Given the description of an element on the screen output the (x, y) to click on. 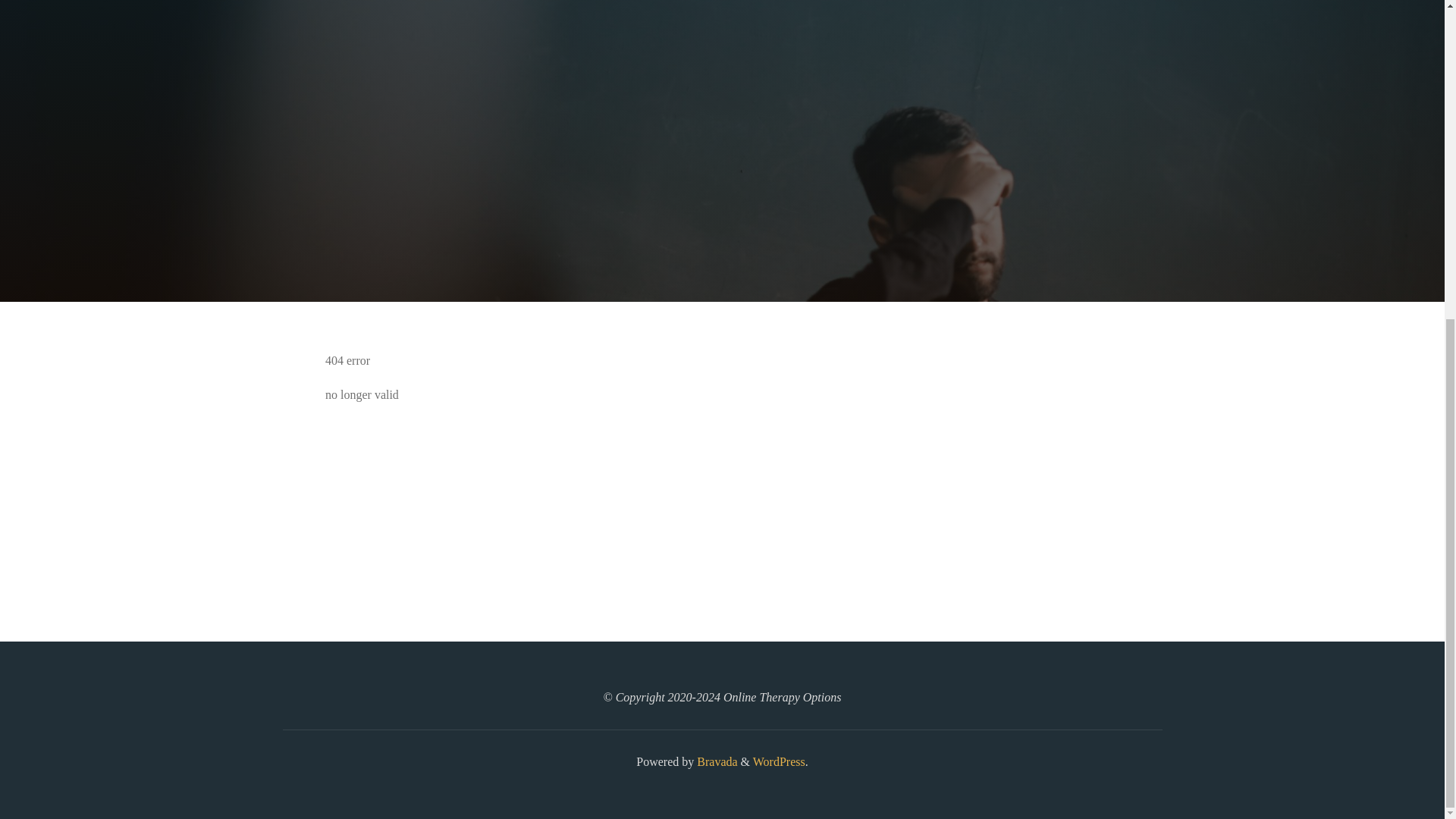
Bravada (715, 761)
Read more (721, 207)
Bravada WordPress Theme by Cryout Creations (715, 761)
WordPress (778, 761)
Semantic Personal Publishing Platform (778, 761)
